Given the description of an element on the screen output the (x, y) to click on. 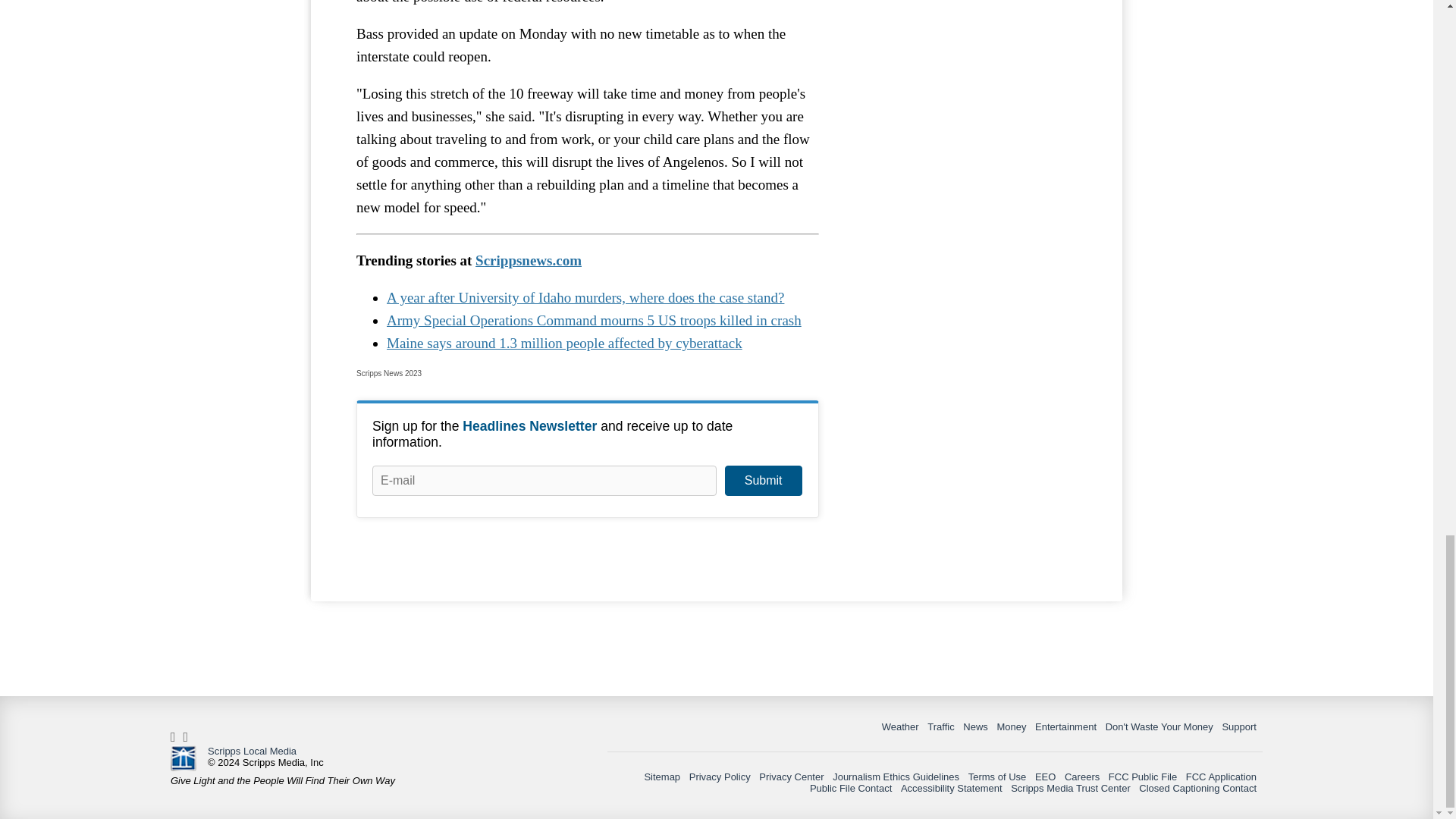
Submit (763, 481)
